Given the description of an element on the screen output the (x, y) to click on. 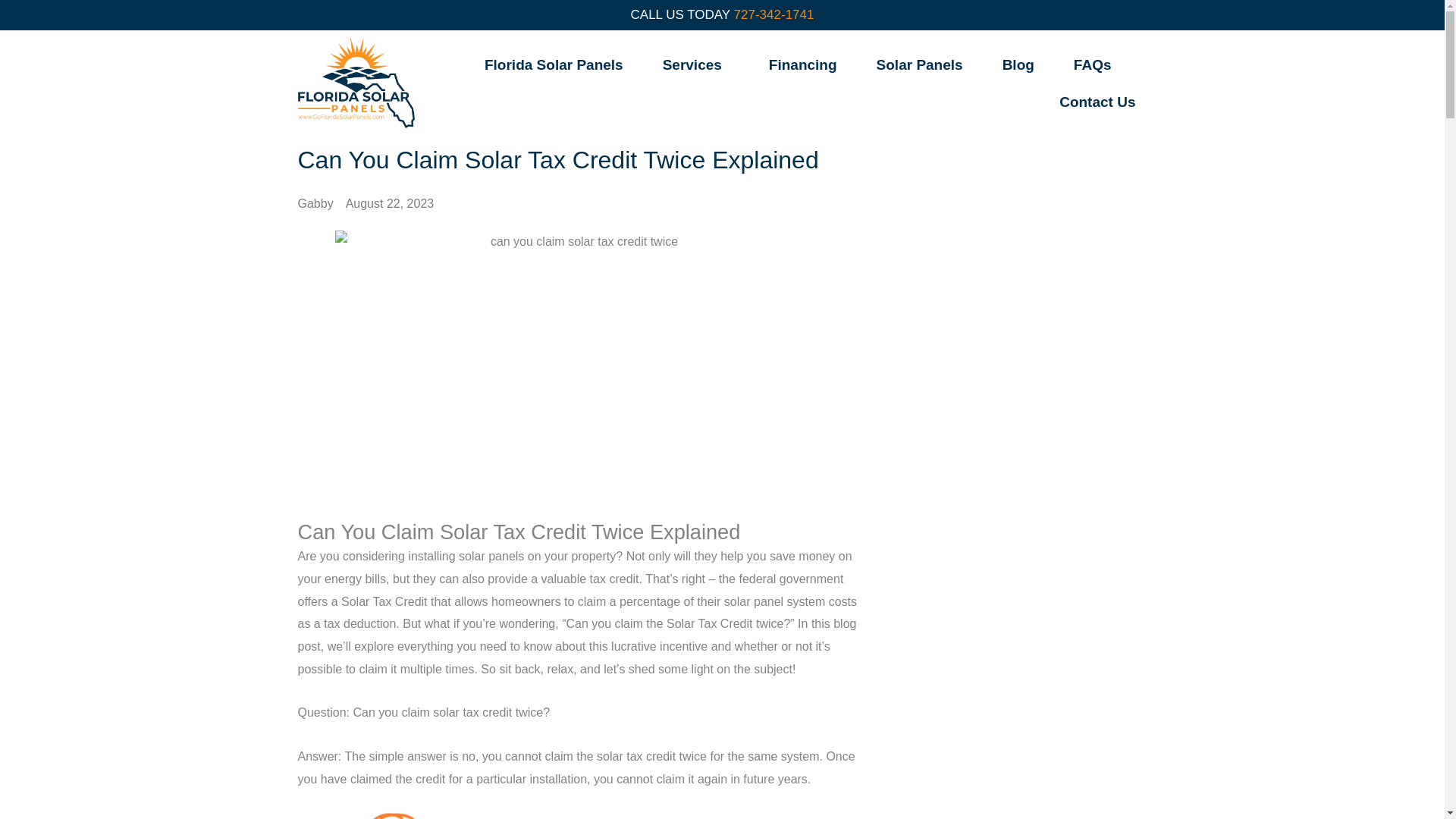
Financing (802, 64)
Blog (1018, 64)
Services (695, 64)
Florida Solar Panels (553, 64)
Contact Us (1097, 101)
Gabby (315, 203)
727-342-1741 (773, 14)
August 22, 2023 (389, 203)
FAQs (1096, 64)
Solar Panels (919, 64)
